Given the description of an element on the screen output the (x, y) to click on. 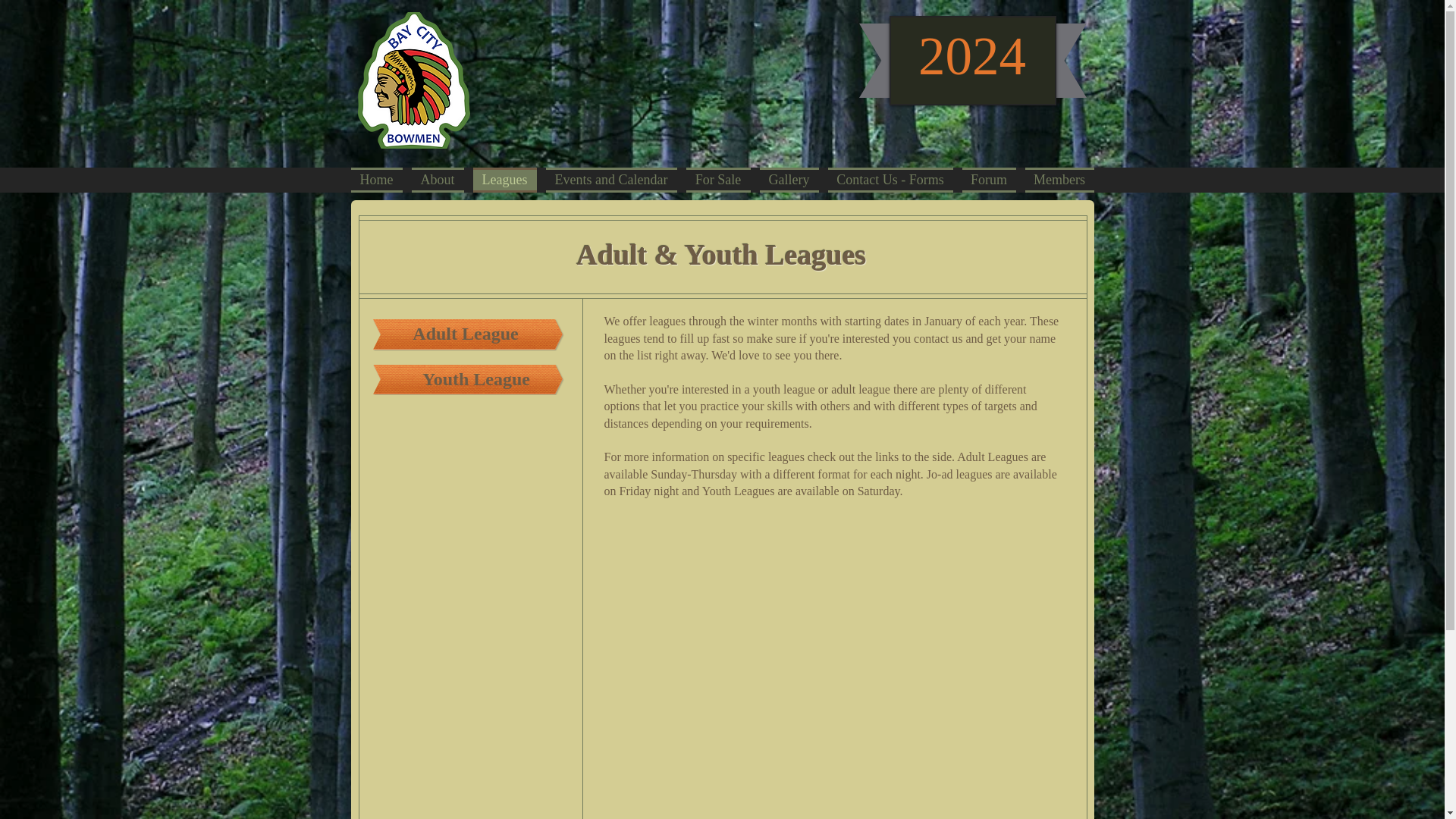
About (436, 179)
Forum (988, 179)
Youth League (476, 379)
Home (378, 179)
Leagues (504, 179)
For Sale (717, 179)
Contact Us - Forms (891, 179)
Events and Calendar (611, 179)
Gallery (789, 179)
Members (1057, 179)
